Given the description of an element on the screen output the (x, y) to click on. 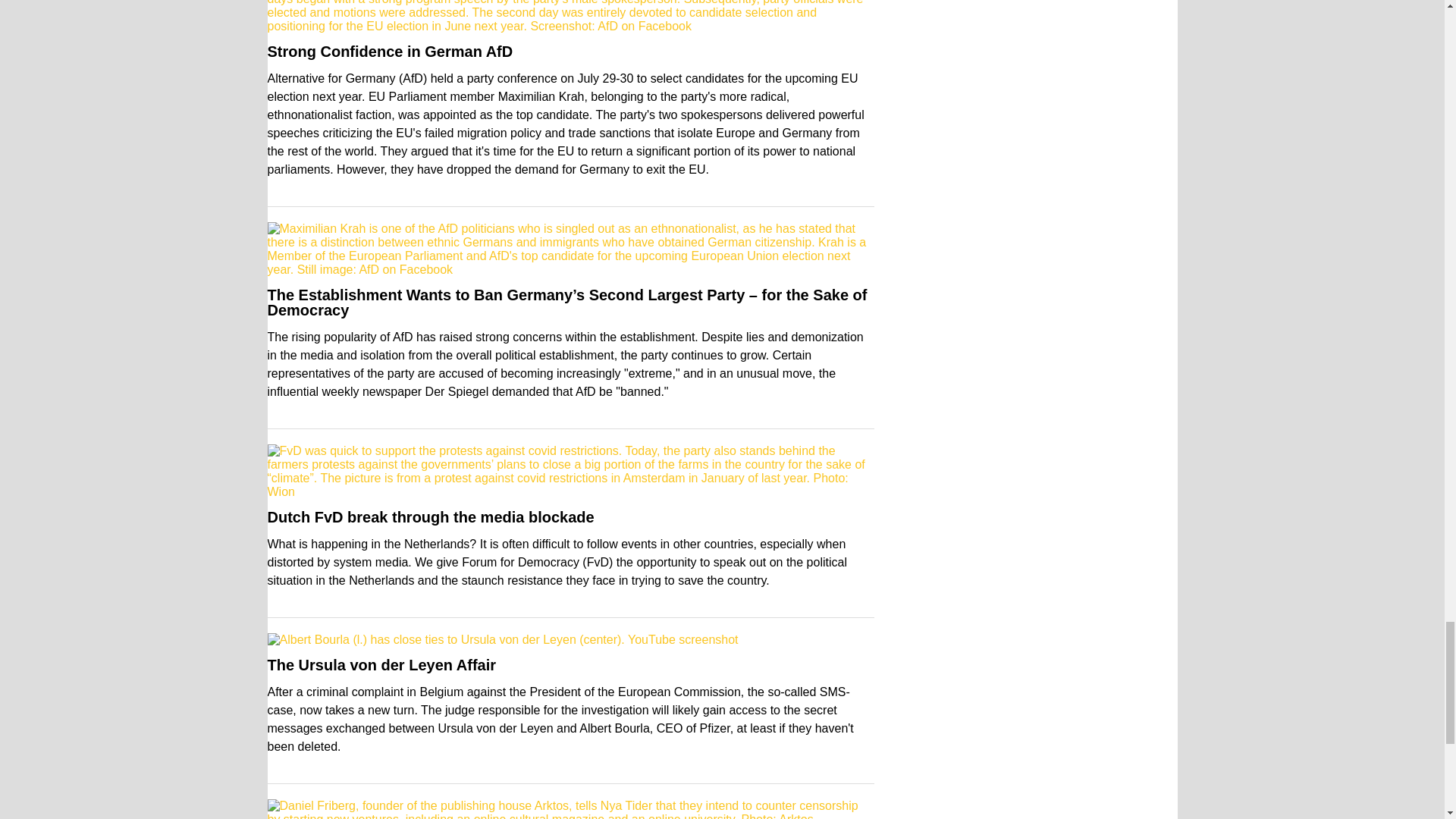
Strong Confidence in German AfD (389, 51)
Strong Confidence in German AfD (389, 51)
The Ursula von der Leyen Affair (381, 664)
Dutch FvD break through the media blockade (430, 516)
